Given the description of an element on the screen output the (x, y) to click on. 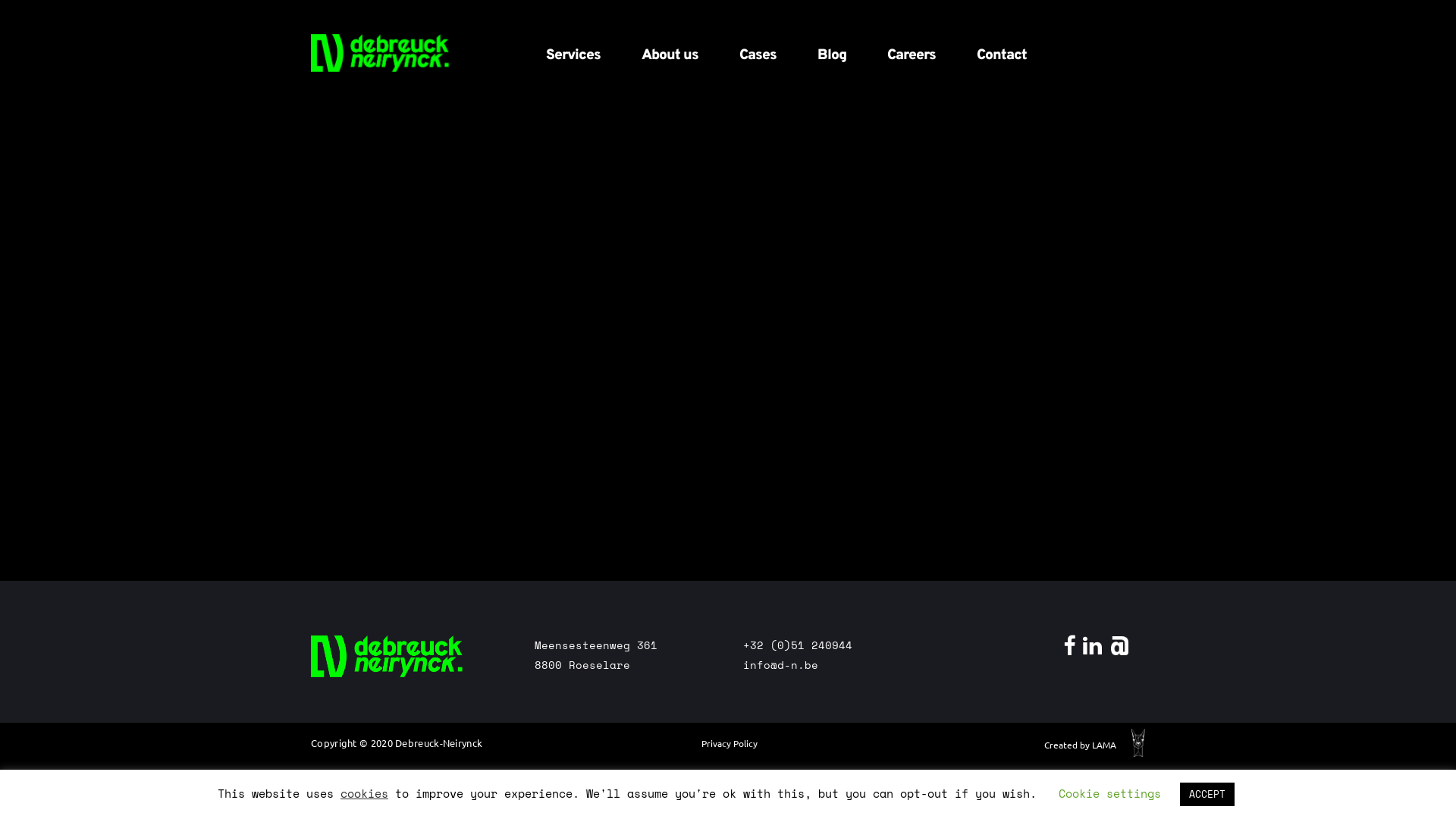
Cases Element type: text (757, 52)
Blog Element type: text (831, 52)
info@d-n.be Element type: text (780, 664)
Services Element type: text (573, 52)
Privacy Policy Element type: text (729, 743)
Meensesteenweg 361
8800 Roeselare Element type: text (595, 654)
About us Element type: text (669, 52)
+32 (0)51 240944 Element type: text (797, 644)
cookies Element type: text (364, 792)
Contact Element type: text (1001, 52)
ACCEPT Element type: text (1206, 794)
Cookie settings Element type: text (1109, 792)
Careers Element type: text (911, 52)
